Given the description of an element on the screen output the (x, y) to click on. 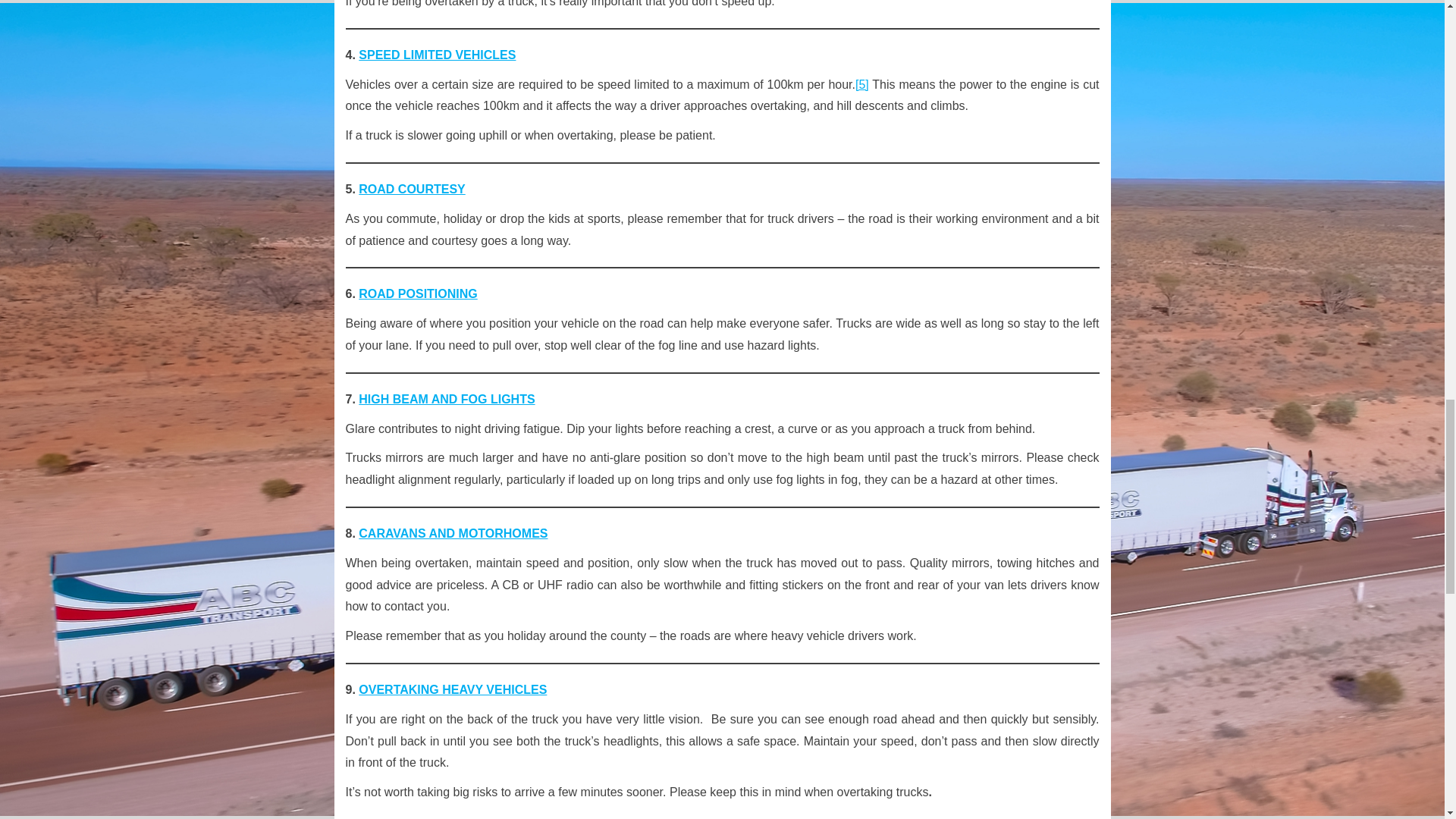
SPEED LIMITED VEHICLES (436, 54)
OVERTAKING HEAVY VEHICLES (452, 689)
HIGH BEAM AND FOG LIGHTS (446, 399)
ROAD COURTESY (411, 188)
CARAVANS AND MOTORHOMES (452, 533)
ROAD POSITIONING (417, 293)
